Given the description of an element on the screen output the (x, y) to click on. 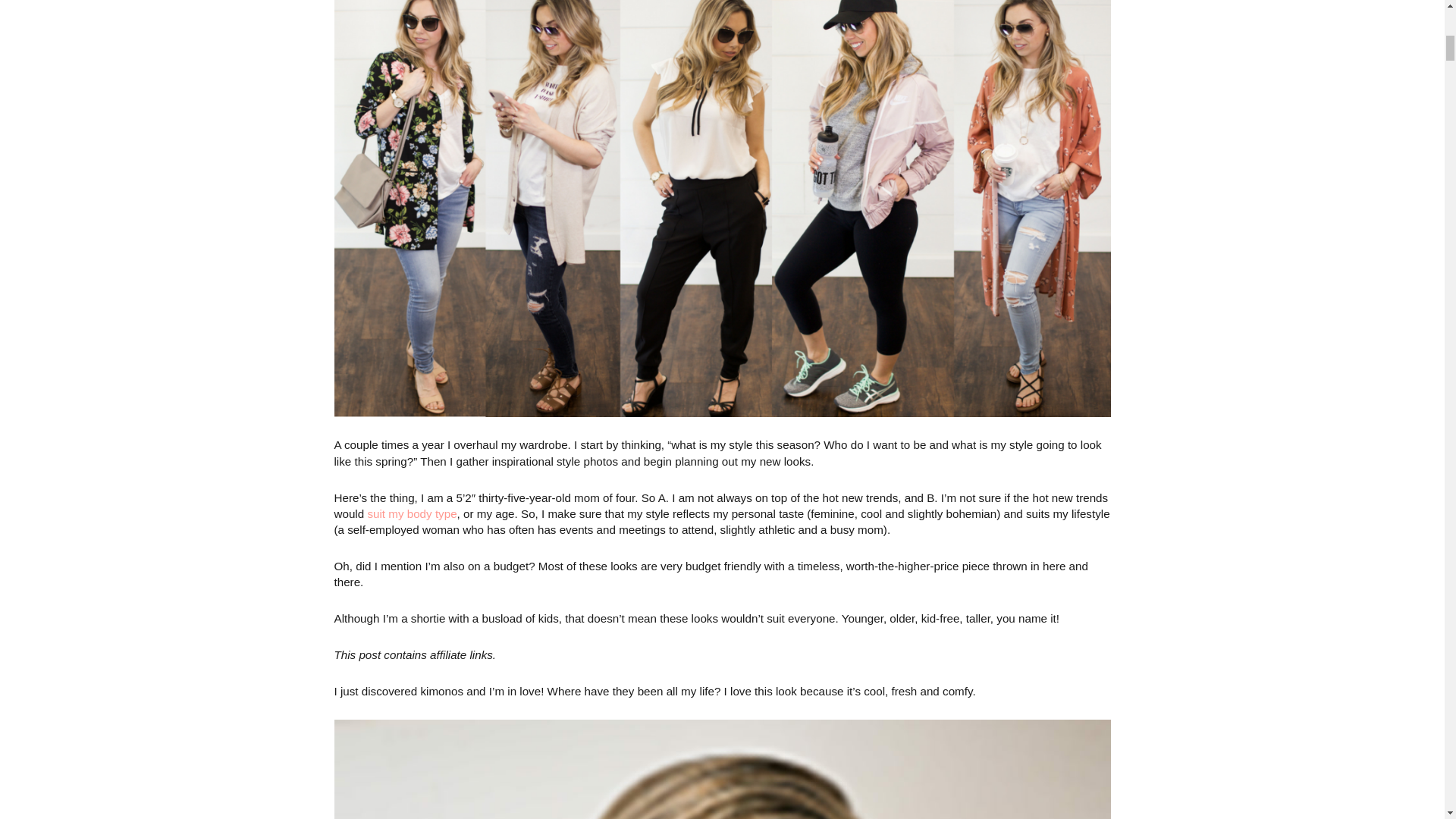
suit my body type (411, 513)
